Given the description of an element on the screen output the (x, y) to click on. 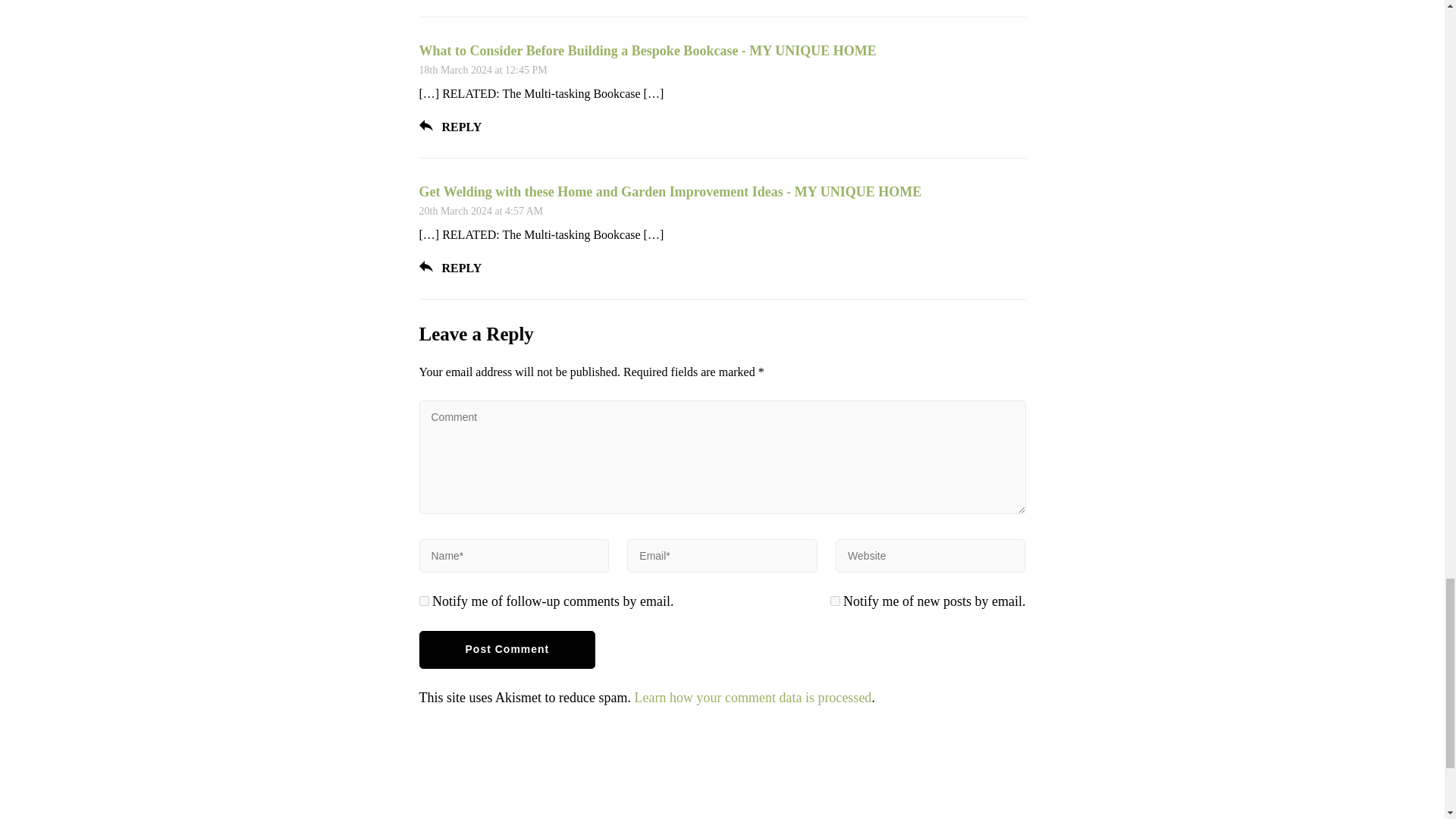
subscribe (834, 601)
subscribe (423, 601)
Post Comment (507, 649)
